Given the description of an element on the screen output the (x, y) to click on. 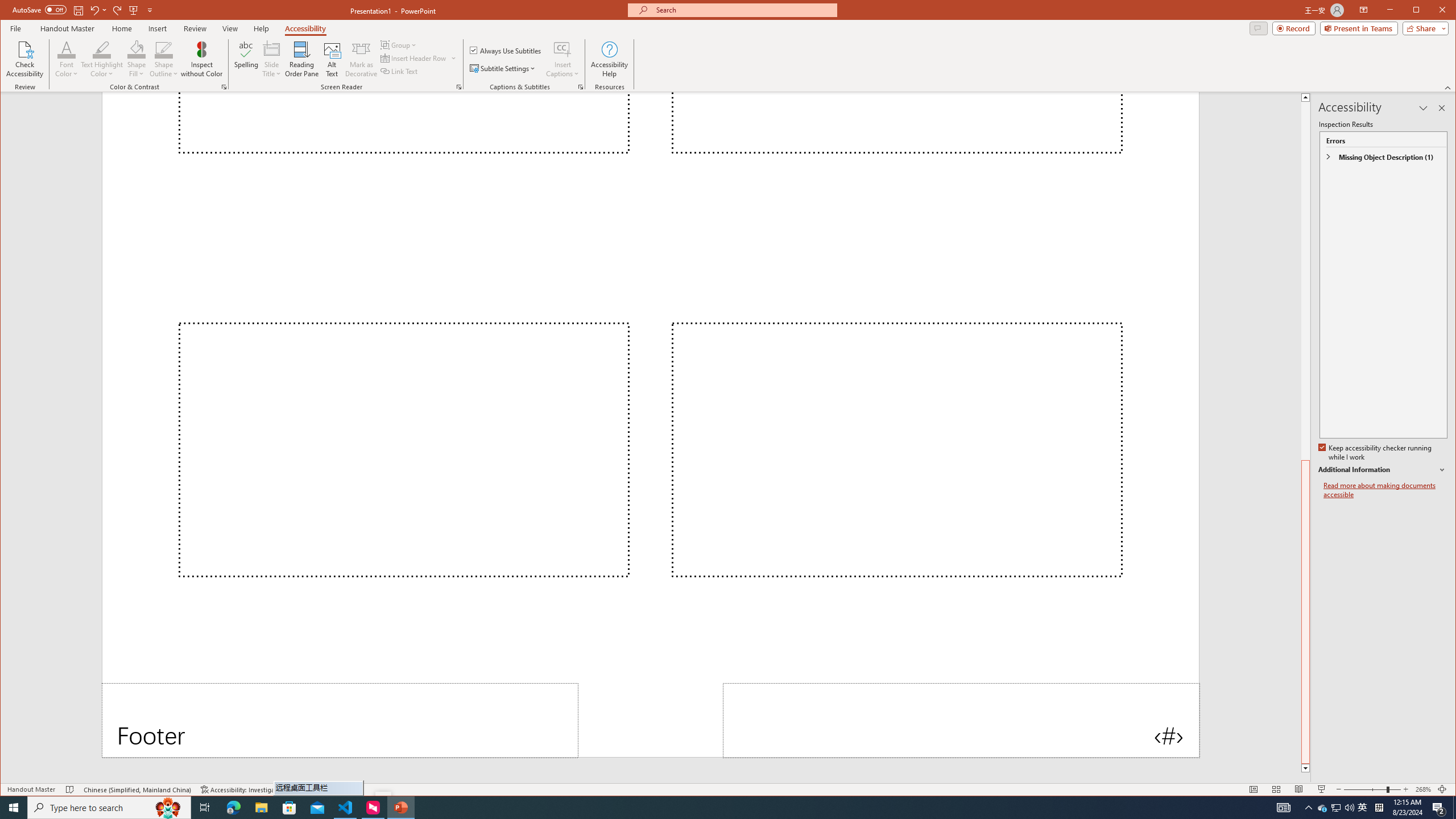
File Tab (15, 27)
Footer (339, 720)
Line down (1305, 768)
Shape Outline (163, 59)
Font Color (66, 59)
PowerPoint - 1 running window (400, 807)
Subtitle Settings (502, 68)
AutoSave (38, 9)
Always Use Subtitles (505, 49)
Group (399, 44)
Class: MsoCommandBar (728, 789)
Share (1422, 27)
Present in Teams (1358, 28)
File Explorer (261, 807)
Accessibility (305, 28)
